Given the description of an element on the screen output the (x, y) to click on. 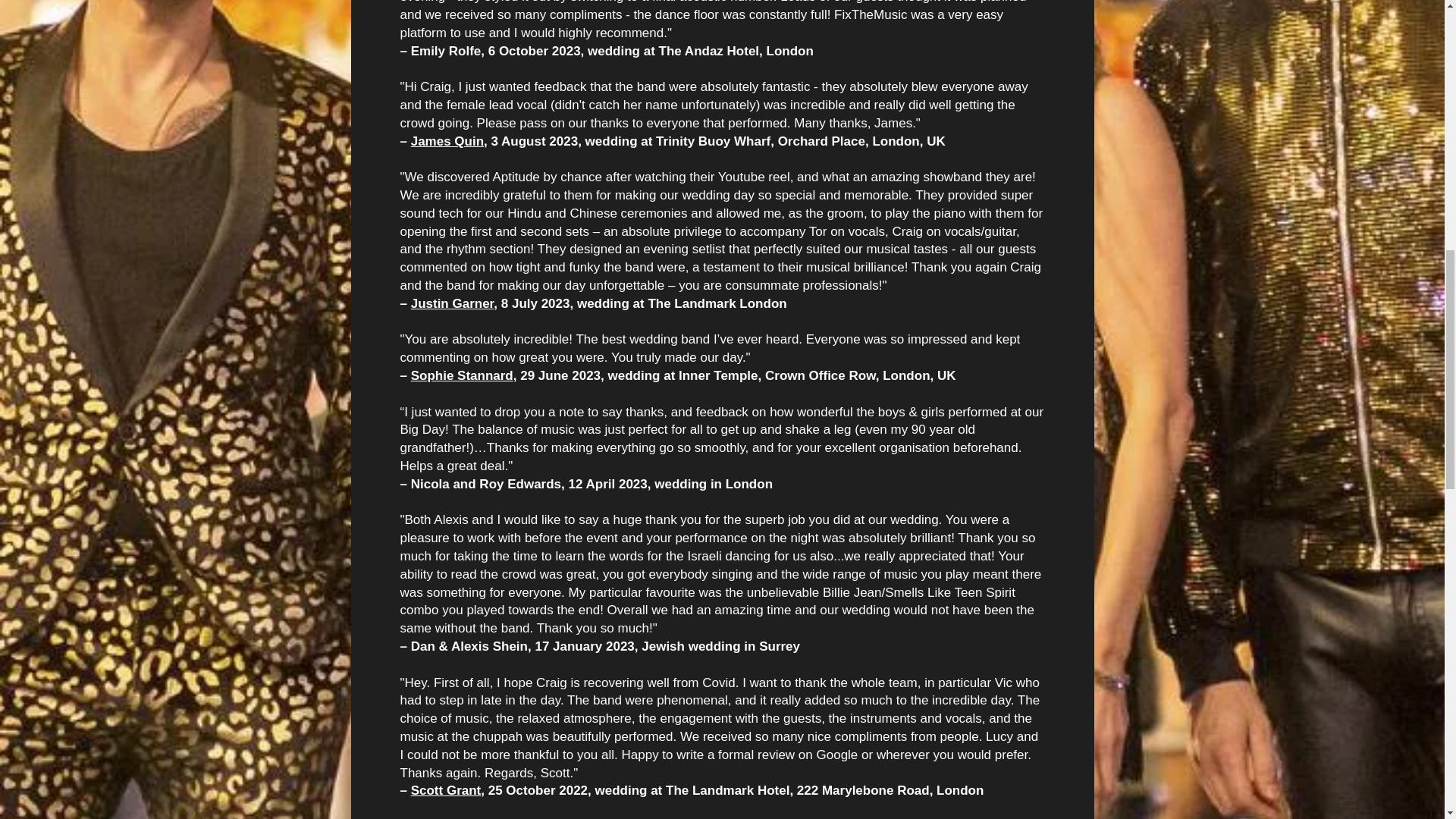
Justin Garner (452, 303)
Sophie Stannard (461, 375)
Scott Grant (445, 789)
